Given the description of an element on the screen output the (x, y) to click on. 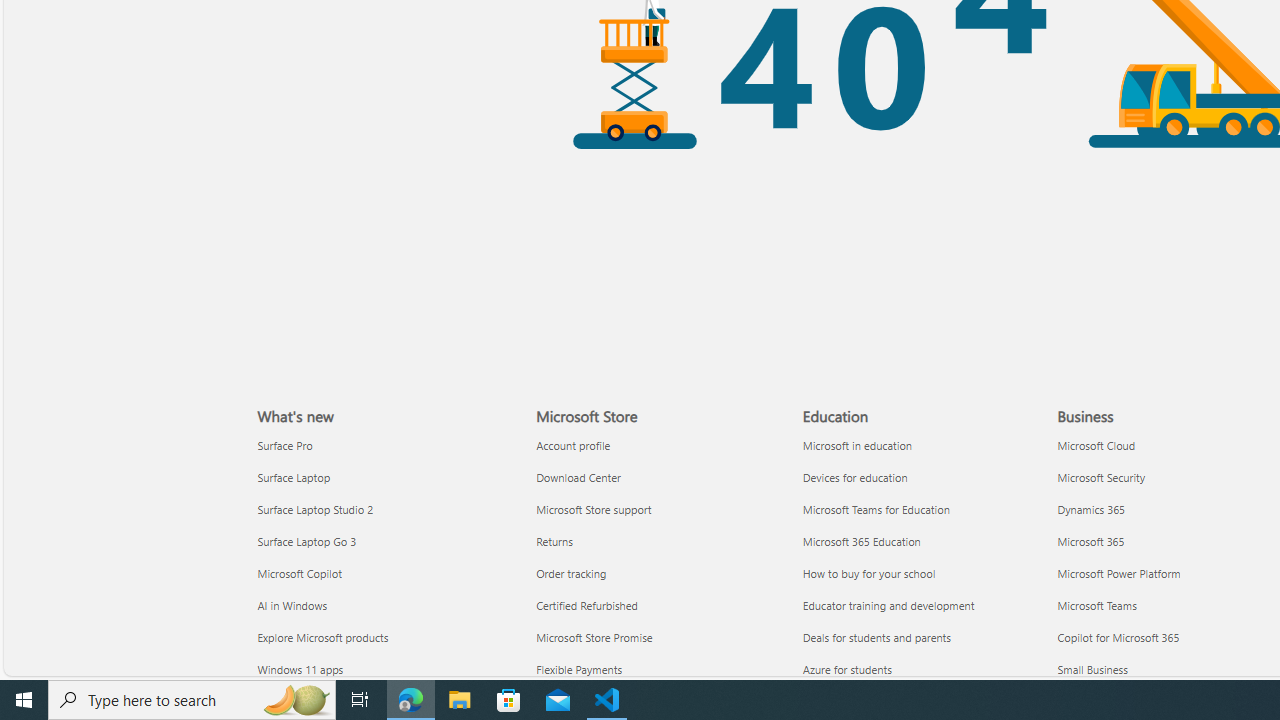
Surface Laptop Studio 2 (385, 509)
Microsoft Power Platform Business (1119, 573)
Microsoft Store support (657, 509)
Surface Laptop Go 3 (385, 541)
Copilot for Microsoft 365 Business (1118, 637)
Dynamics 365 Business (1091, 508)
Explore Microsoft products What's new (323, 637)
Microsoft Store support Microsoft Store (593, 508)
Azure for students Education (847, 668)
Microsoft Cloud Business (1096, 444)
Microsoft Teams for Education Education (875, 508)
Microsoft Copilot (385, 573)
Microsoft Teams for Education (923, 509)
Order tracking Microsoft Store (571, 573)
Microsoft 365 Education (923, 541)
